Given the description of an element on the screen output the (x, y) to click on. 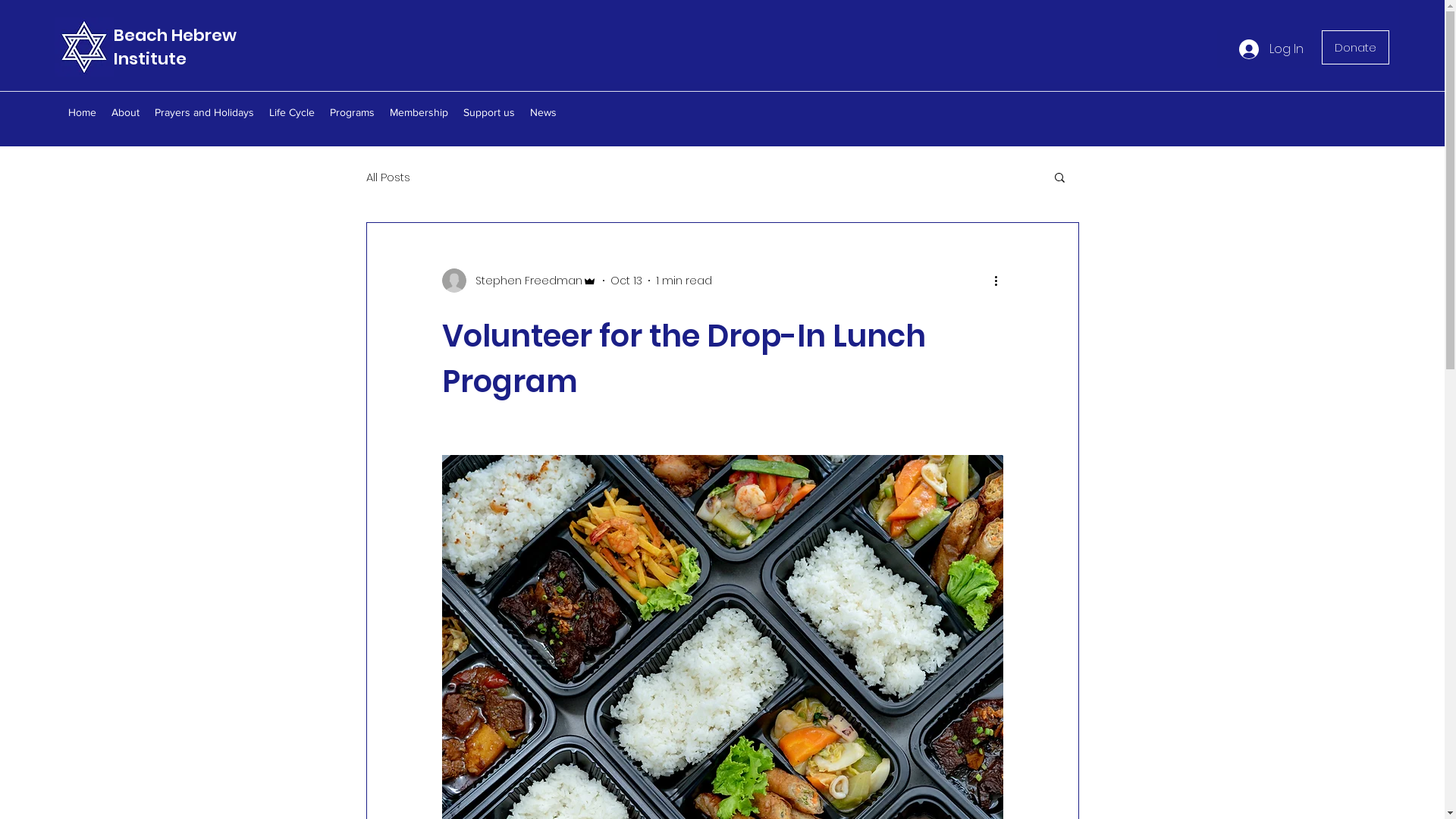
Membership Element type: text (418, 111)
Beach Hebrew Element type: text (174, 35)
Donate Element type: text (1355, 47)
Life Cycle Element type: text (291, 111)
News Element type: text (543, 111)
Institute Element type: text (149, 58)
Prayers and Holidays Element type: text (204, 111)
Stephen Freedman Element type: text (518, 280)
Log In Element type: text (1271, 48)
Home Element type: text (81, 111)
